Given the description of an element on the screen output the (x, y) to click on. 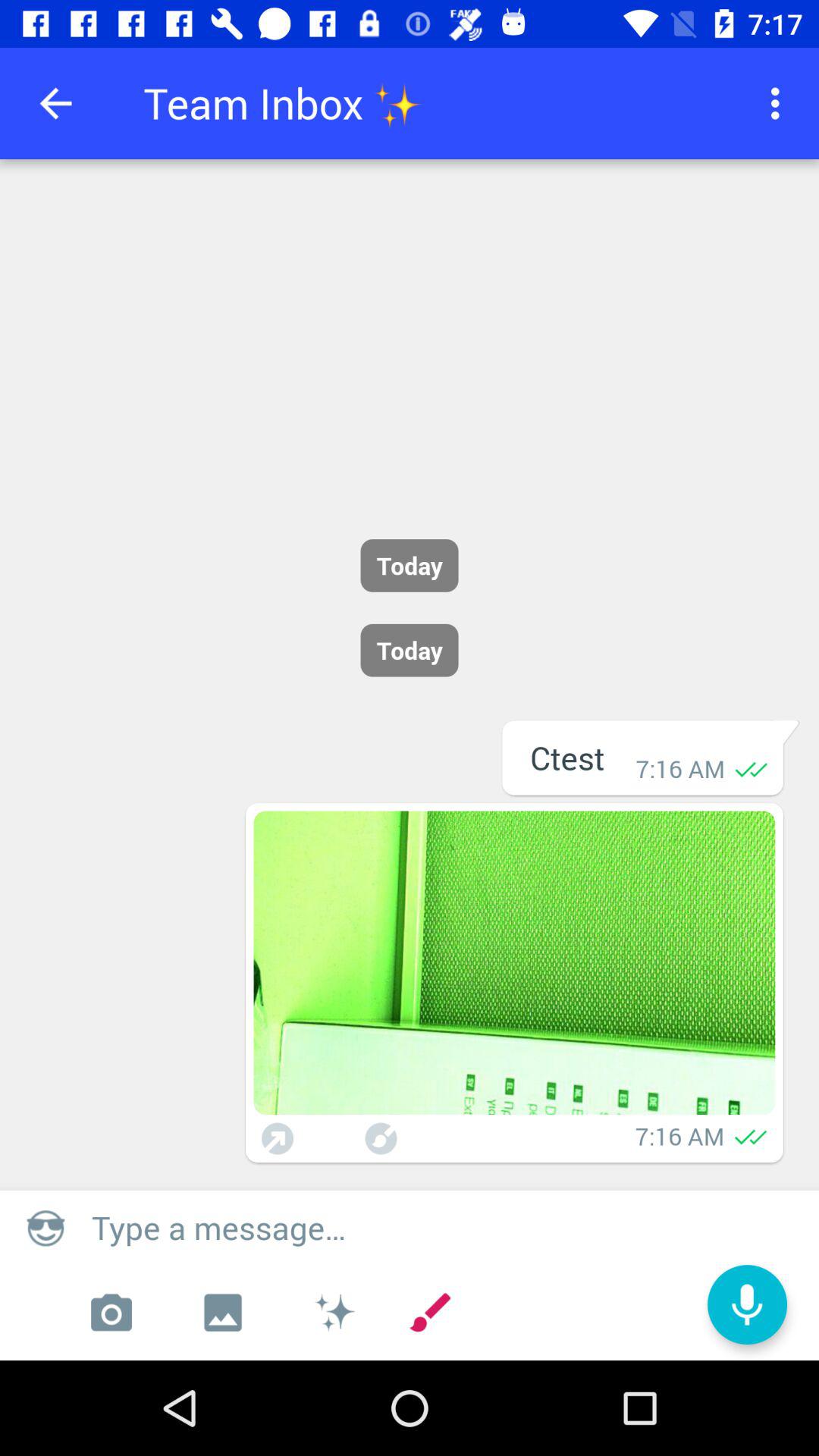
add emojis (334, 1312)
